Given the description of an element on the screen output the (x, y) to click on. 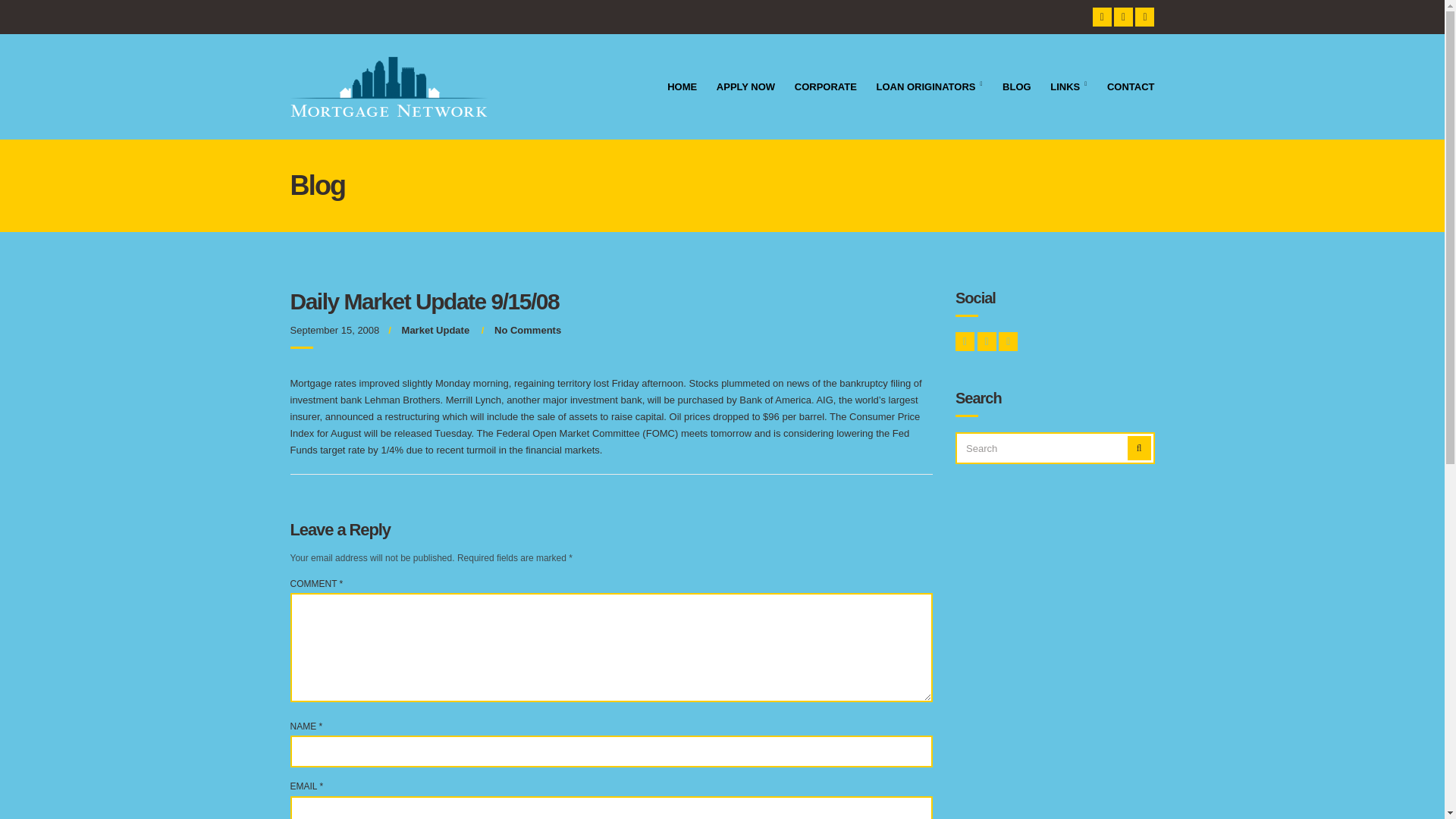
CORPORATE (825, 88)
Market Update (435, 329)
LINKS (1068, 88)
APPLY NOW (745, 88)
LOAN ORIGINATORS (930, 88)
HOME (681, 88)
CONTACT (1130, 88)
BLOG (1016, 88)
